Given the description of an element on the screen output the (x, y) to click on. 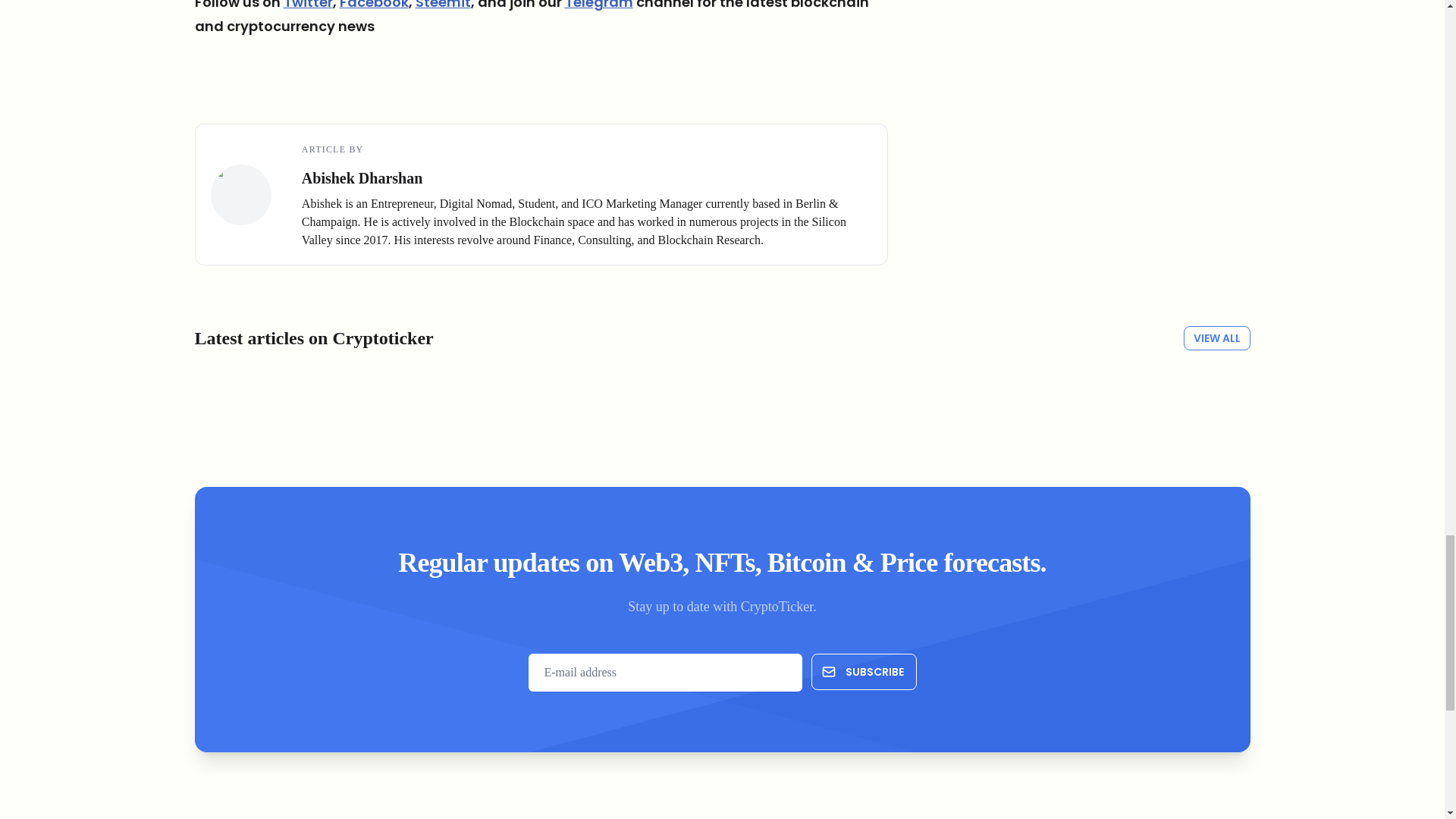
Steemit (442, 4)
Twitter (308, 4)
VIEW ALL (1215, 337)
Telegram (597, 4)
SUBSCRIBE (863, 671)
Facebook (374, 4)
